Given the description of an element on the screen output the (x, y) to click on. 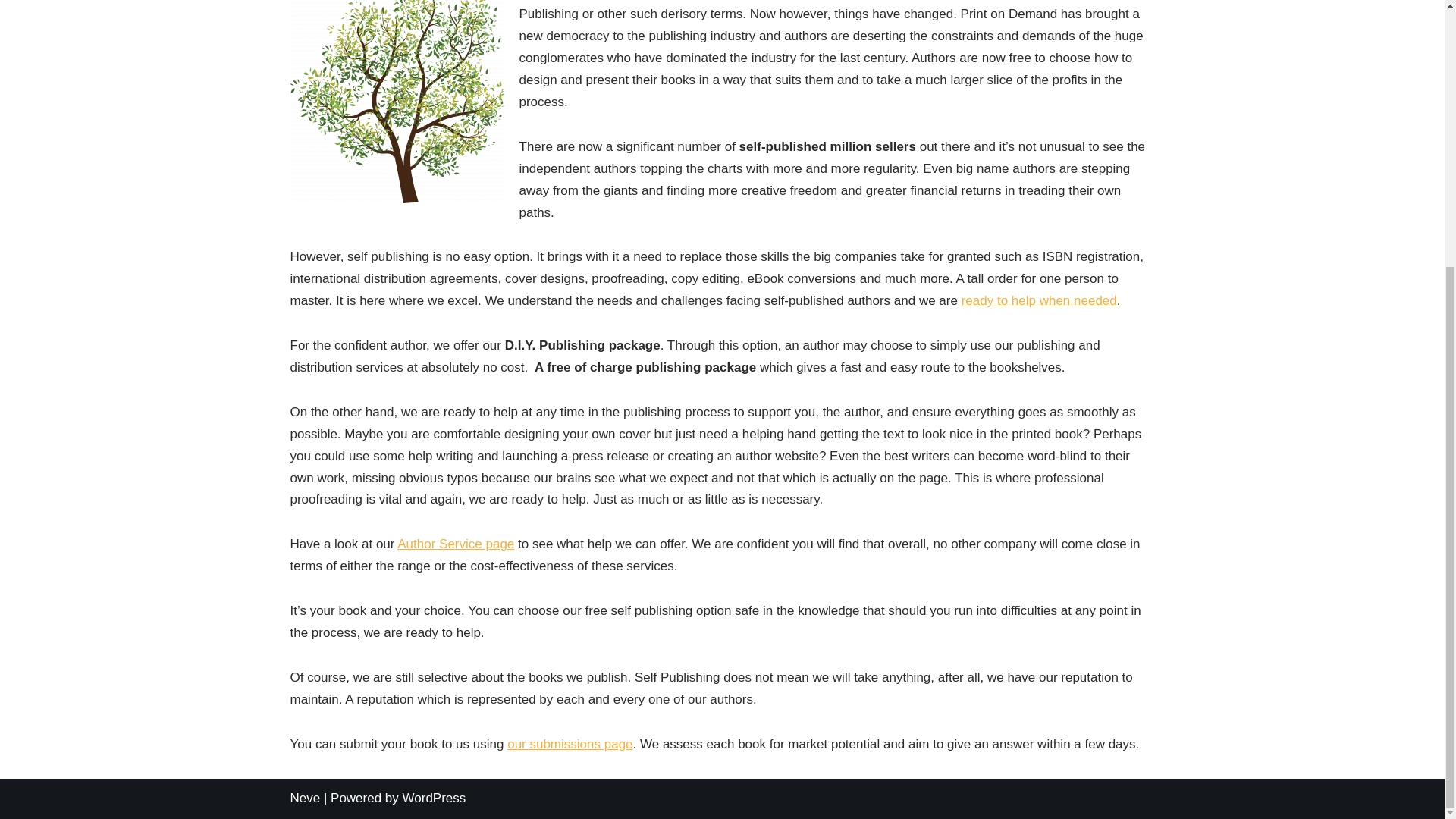
ready to help when needed (1038, 300)
WordPress (434, 798)
Neve (304, 798)
Author Service page (455, 544)
our submissions page (568, 744)
